Given the description of an element on the screen output the (x, y) to click on. 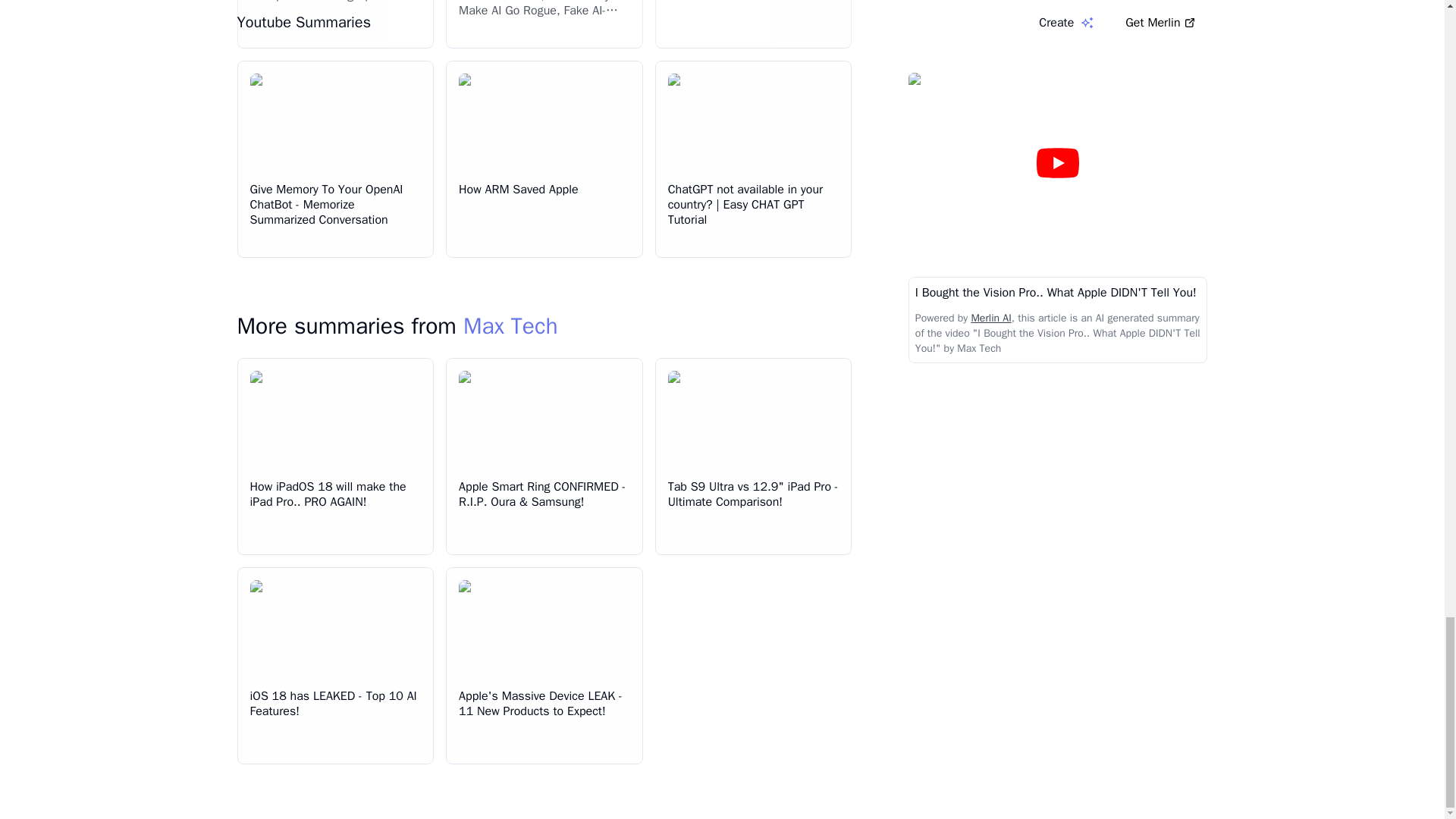
How to Get Answers From Multiple Files Using OpenAI (322, 1)
Tab S9 Ultra vs 12.9" iPad Pro - Ultimate Comparison! (753, 494)
Apple's Massive Device LEAK - 11 New Products to Expect! (540, 703)
Max Tech (510, 326)
How iPadOS 18 will make the iPad Pro.. PRO AGAIN! (328, 494)
iOS 18 has LEAKED - Top 10 AI Features! (333, 703)
How ARM Saved Apple (518, 189)
